Given the description of an element on the screen output the (x, y) to click on. 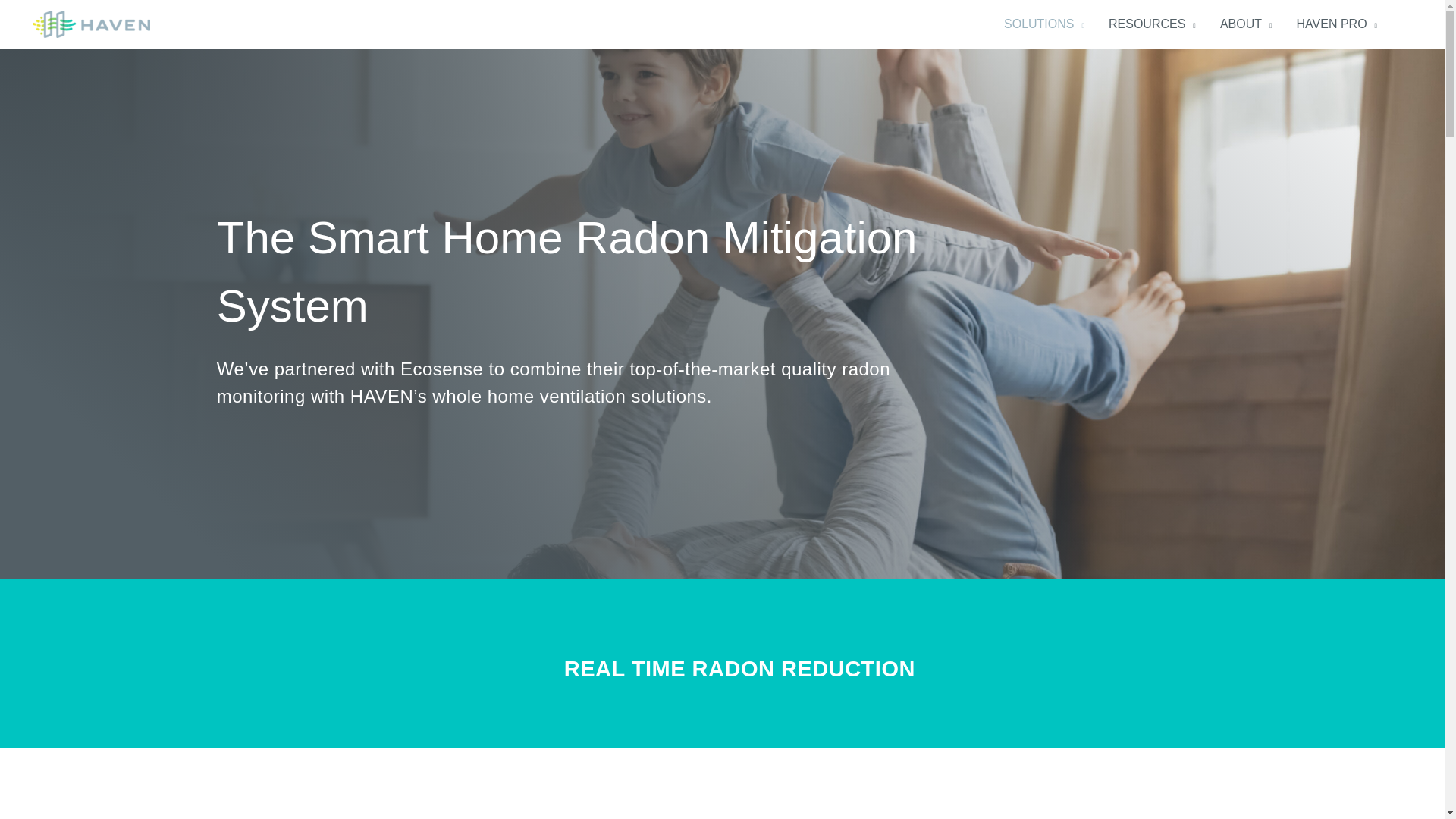
RESOURCES (1152, 24)
SOLUTIONS (1043, 24)
HAVEN PRO (1337, 24)
ABOUT (1246, 24)
